Given the description of an element on the screen output the (x, y) to click on. 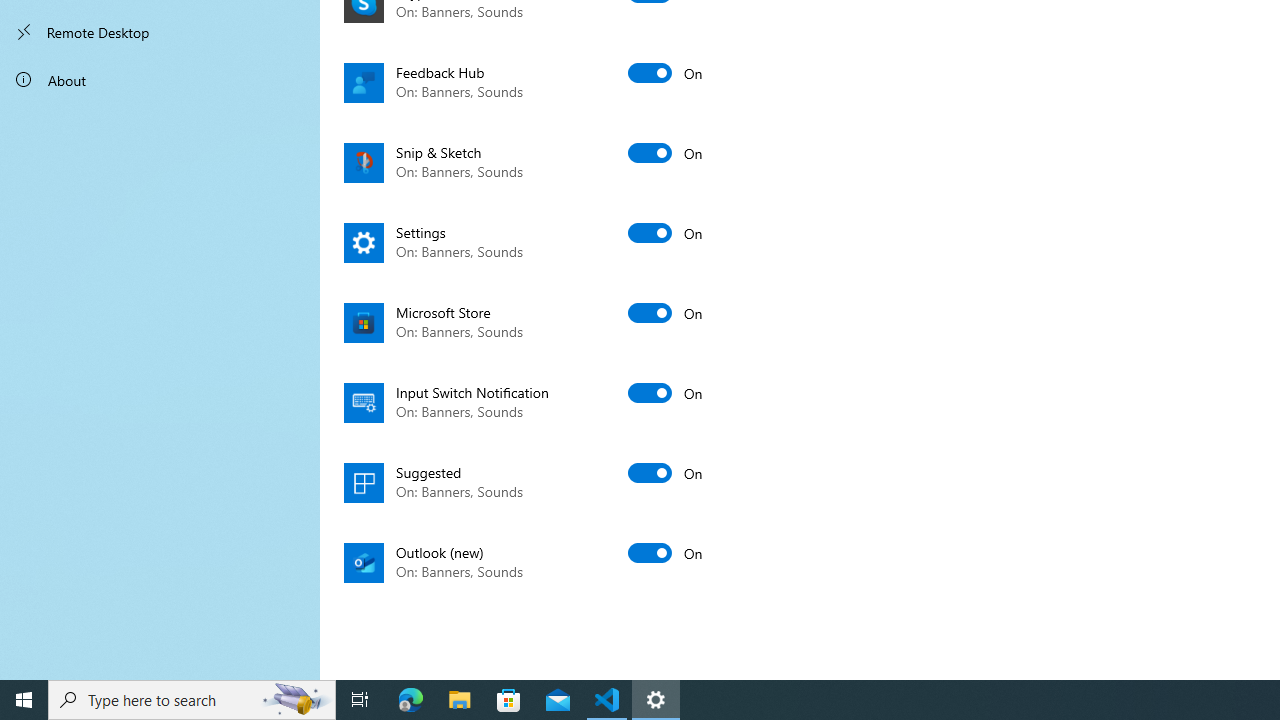
File Explorer (460, 699)
Microsoft Edge (411, 699)
Start (24, 699)
